Given the description of an element on the screen output the (x, y) to click on. 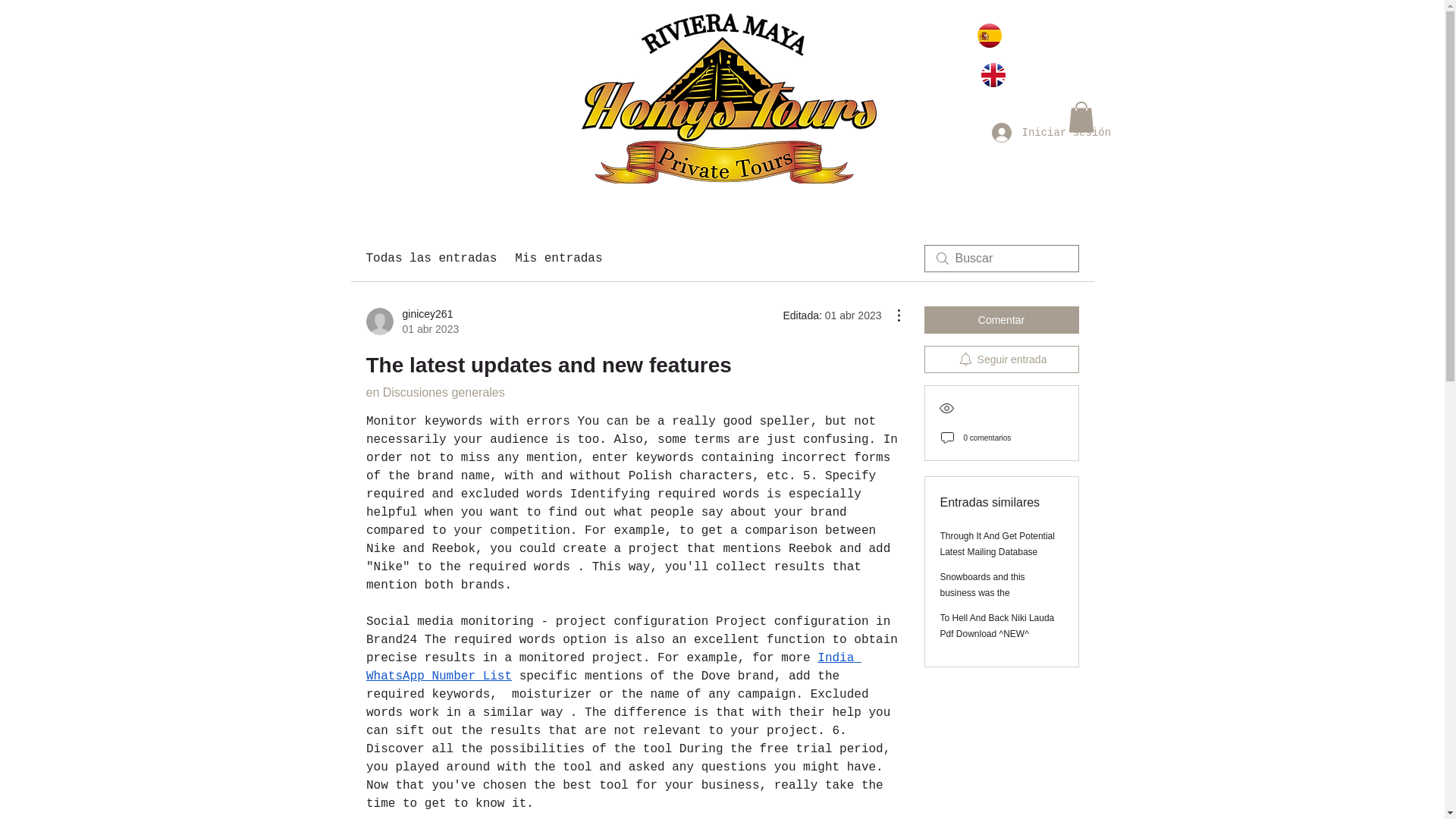
Through It And Get Potential Latest Mailing Database (997, 543)
Seguir entrada (1000, 359)
Snowboards and this business was the (411, 321)
India WhatsApp Number List (982, 584)
Logo Homys.png (612, 667)
Todas las entradas (728, 98)
Mis entradas (430, 258)
Comentar (558, 258)
en Discusiones generales (1000, 319)
